Given the description of an element on the screen output the (x, y) to click on. 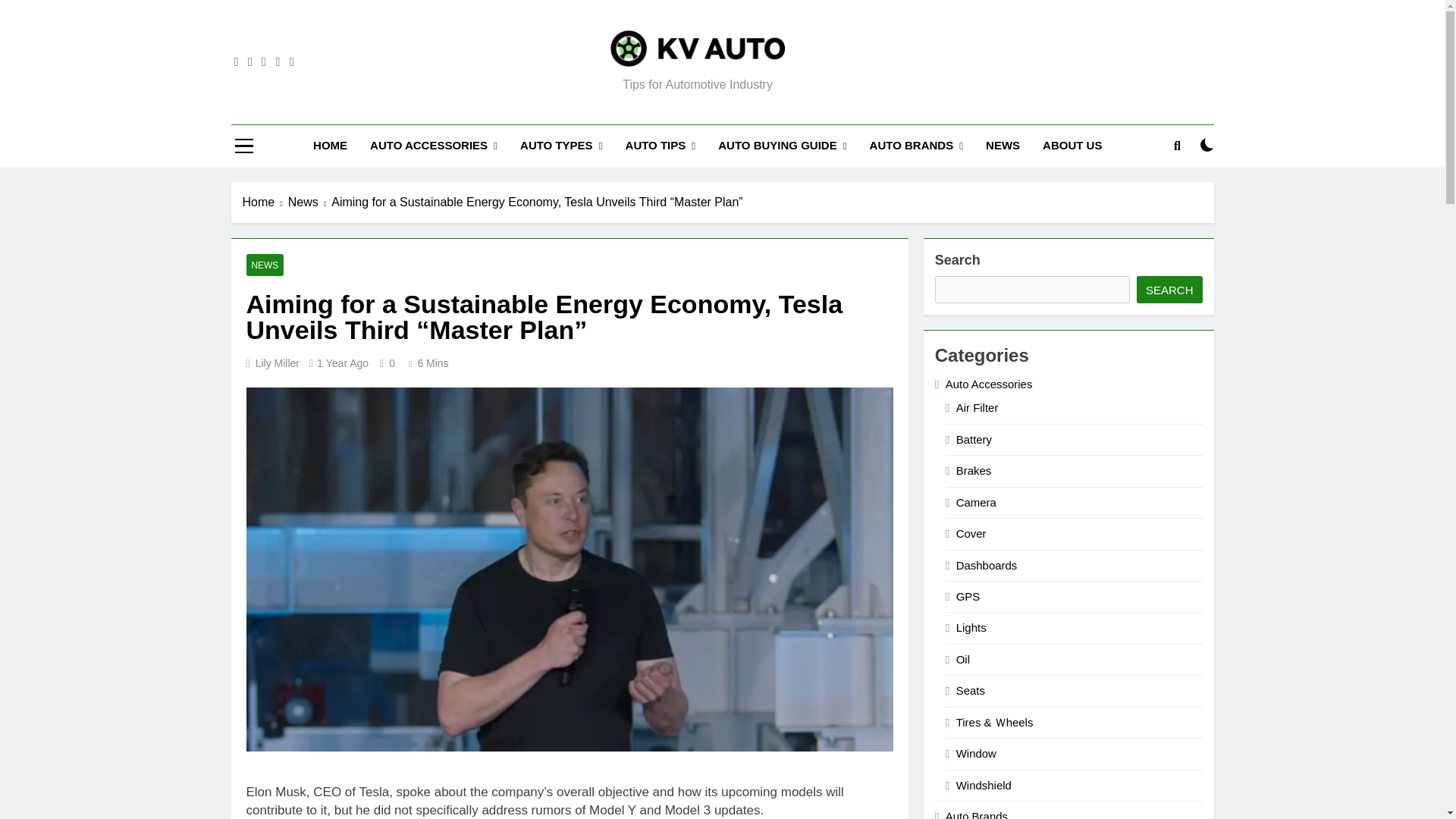
AUTO ACCESSORIES (433, 146)
AUTO BUYING GUIDE (781, 146)
AUTO TIPS (660, 146)
on (1206, 144)
AUTO TYPES (561, 146)
KV Auto (495, 88)
HOME (329, 145)
